Given the description of an element on the screen output the (x, y) to click on. 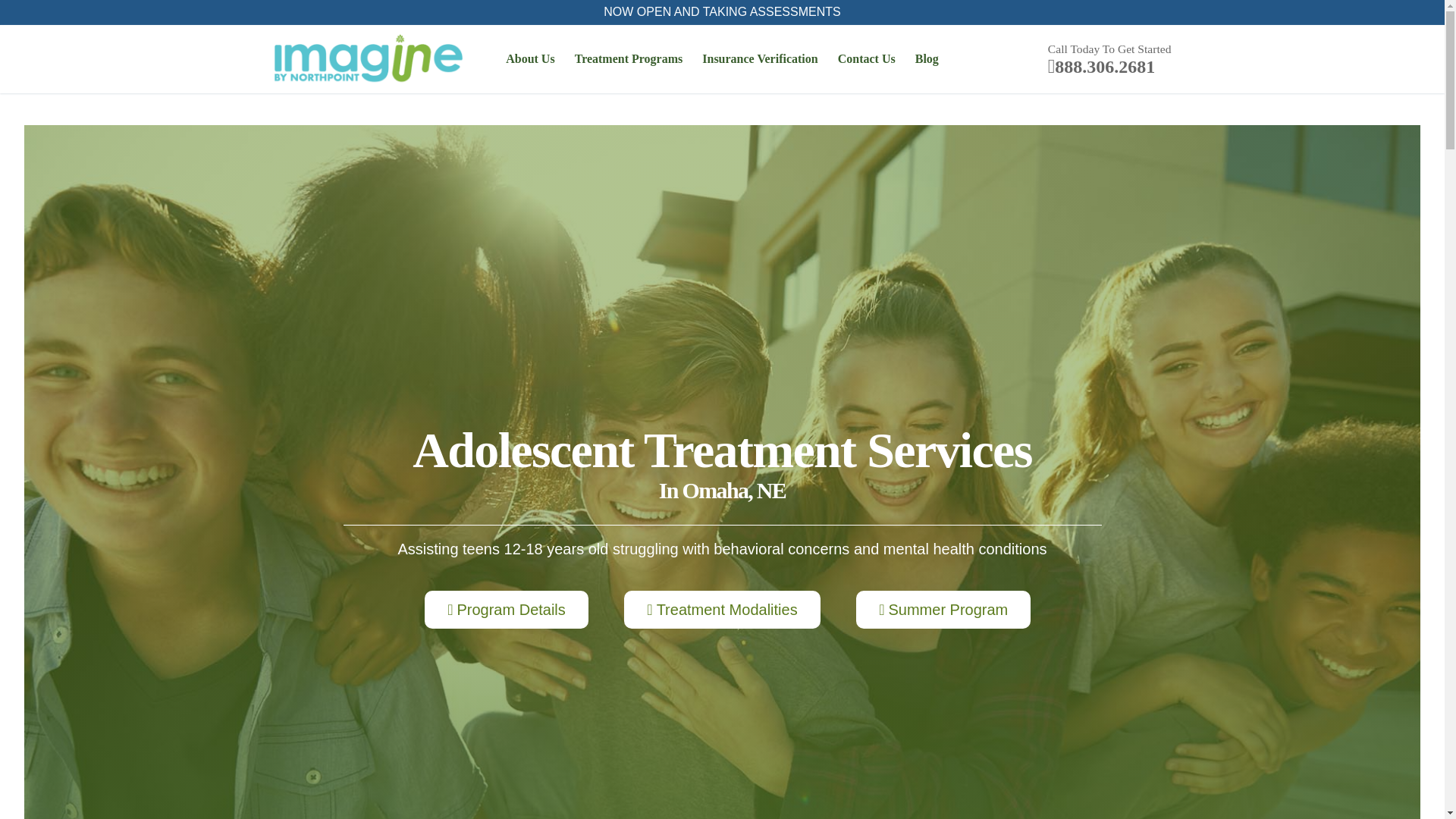
Treatment Programs (628, 59)
Contact Us (866, 59)
Blog (927, 59)
Insurance Verification (760, 59)
About Us (530, 59)
